Given the description of an element on the screen output the (x, y) to click on. 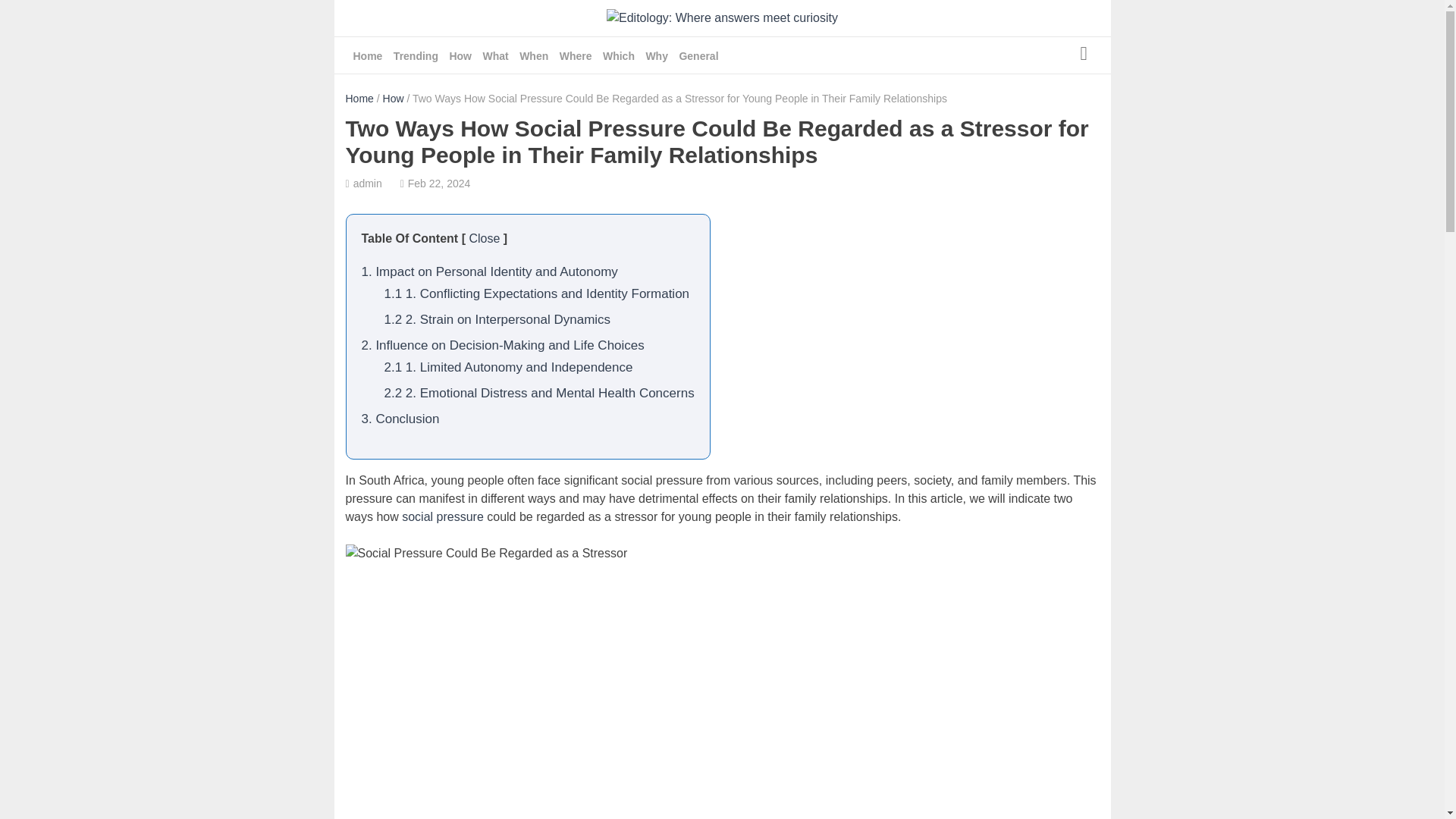
How (393, 98)
1. Impact on Personal Identity and Autonomy (489, 271)
Home (360, 98)
social pressure (442, 516)
2.2 2. Emotional Distress and Mental Health Concerns (539, 392)
1.2 2. Strain on Interpersonal Dynamics (497, 319)
General (697, 55)
Close (483, 237)
2.1 1. Limited Autonomy and Independence (507, 367)
1.1 1. Conflicting Expectations and Identity Formation (536, 293)
